Given the description of an element on the screen output the (x, y) to click on. 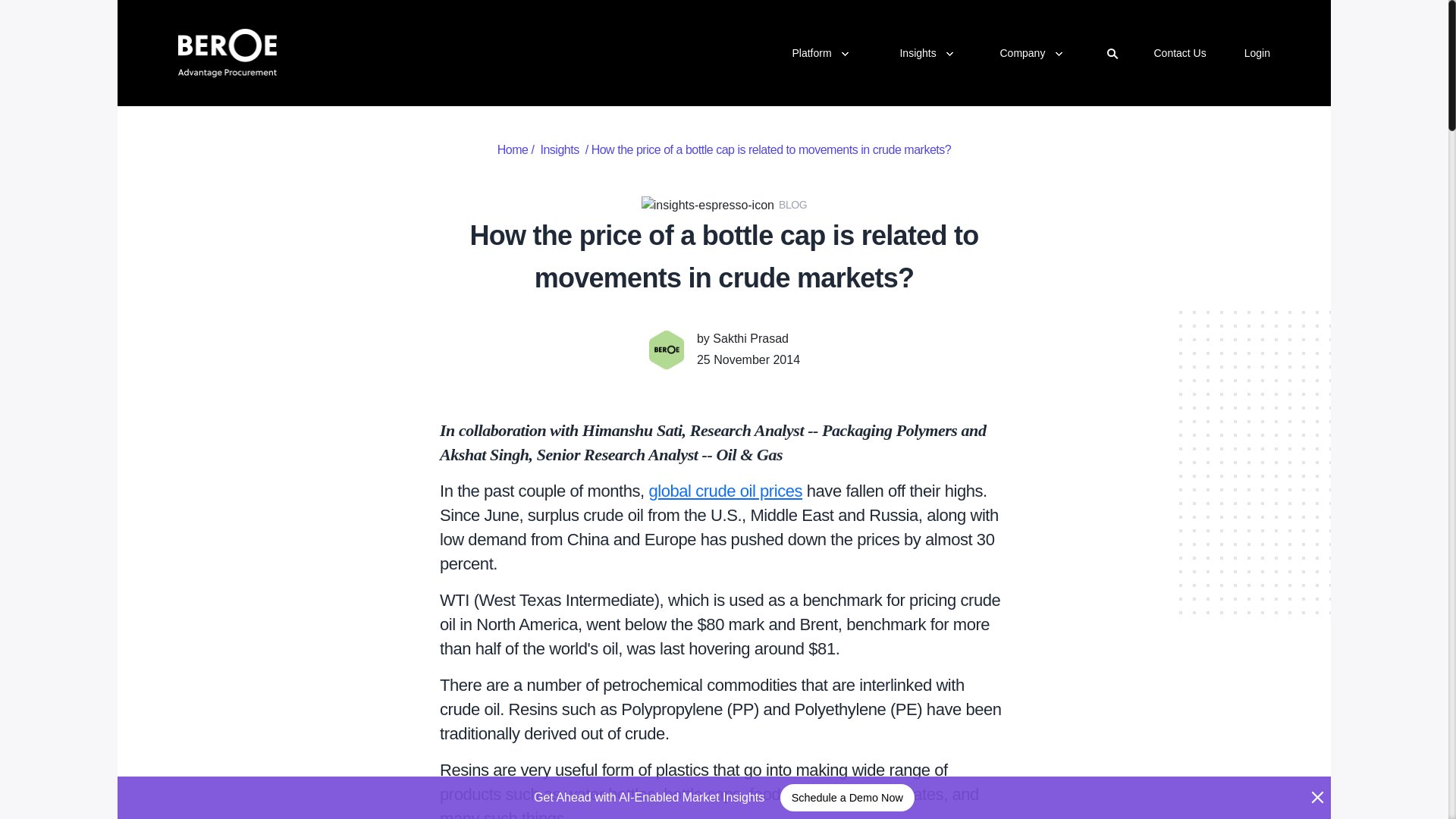
Procurement Espresso (972, 81)
global crude oil prices (724, 490)
Home (512, 149)
Contact Us (818, 97)
Insights (1179, 52)
Market Information (559, 149)
Supply Chain Visibility (1035, 81)
About Beroe (1035, 77)
